Given the description of an element on the screen output the (x, y) to click on. 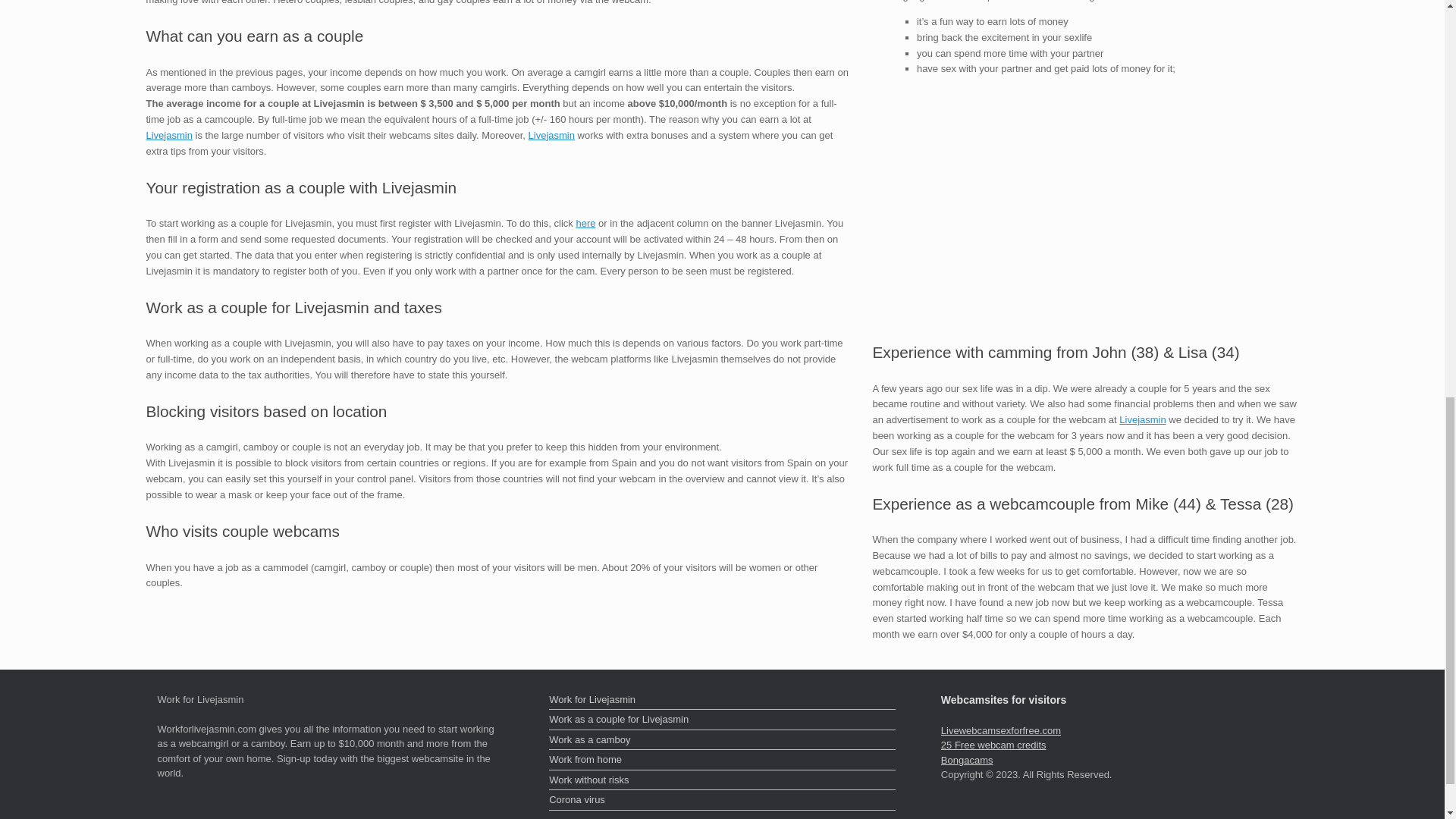
Work as a couple for Livejasmin (721, 720)
Corona virus (721, 801)
Work as a camboy (721, 741)
25 Free webcam credits (993, 745)
Work without risks (721, 782)
here (585, 223)
Livejasmin (168, 134)
Livejasmin (551, 134)
Livewebcamsexforfree.com (1000, 730)
Work for Livejasmin (721, 701)
